Given the description of an element on the screen output the (x, y) to click on. 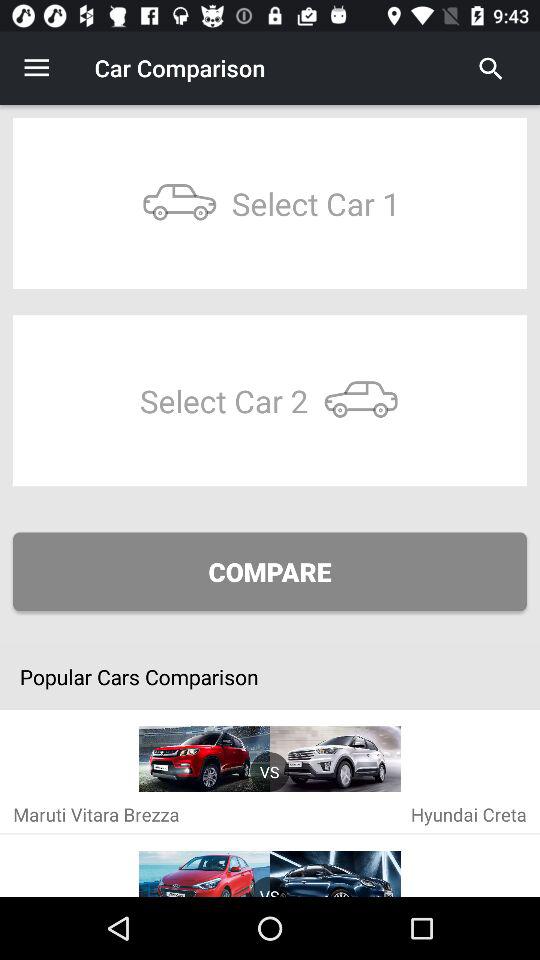
open the icon to the left of car comparison icon (36, 68)
